Given the description of an element on the screen output the (x, y) to click on. 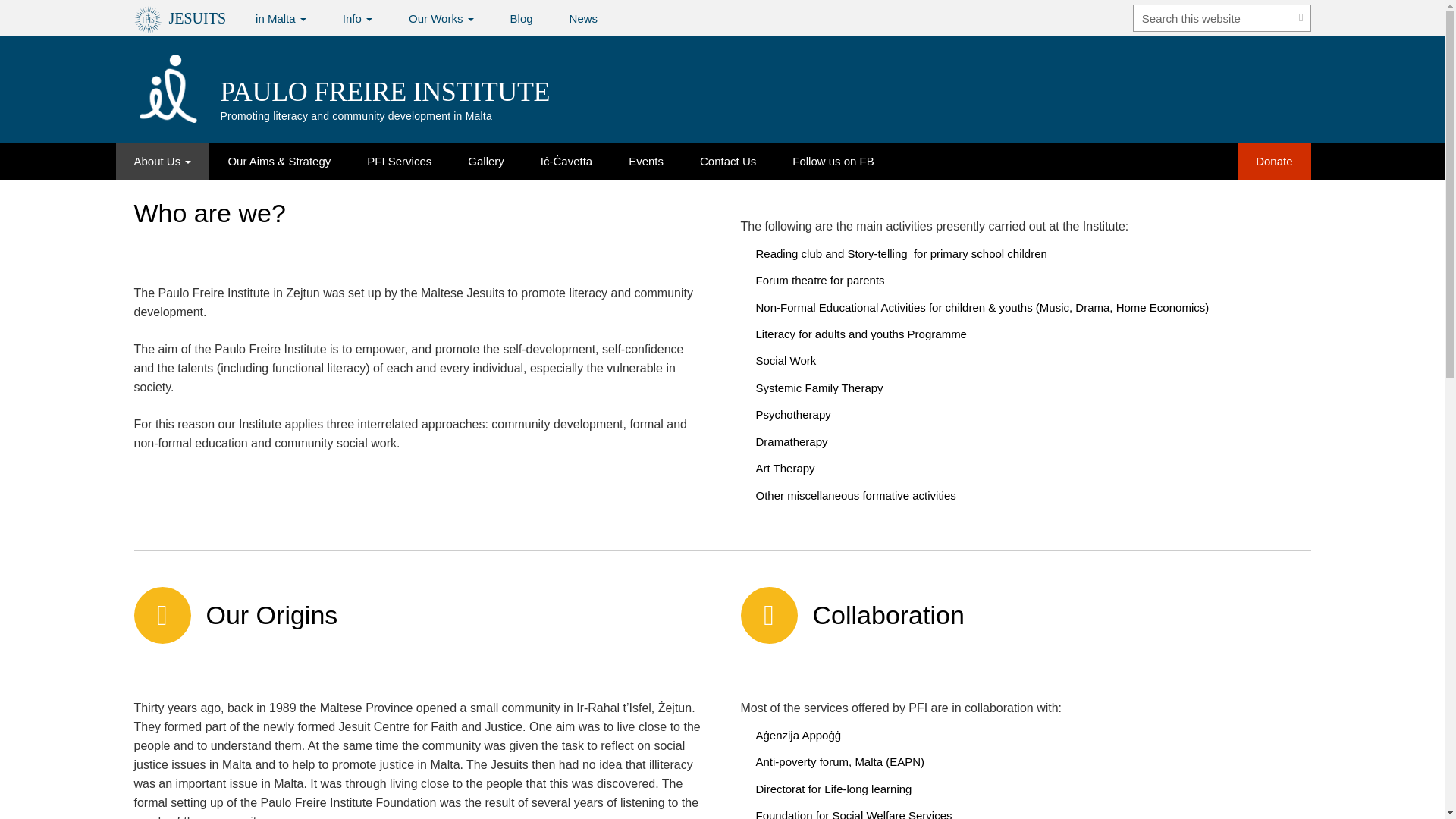
Gallery (485, 161)
News (583, 18)
Blog (521, 18)
Donate (1273, 161)
JESUITS (179, 18)
Contact Us (727, 161)
PAULO FREIRE INSTITUTE (384, 91)
skip to main content (45, 17)
Events (645, 161)
PFI Services (399, 161)
